Given the description of an element on the screen output the (x, y) to click on. 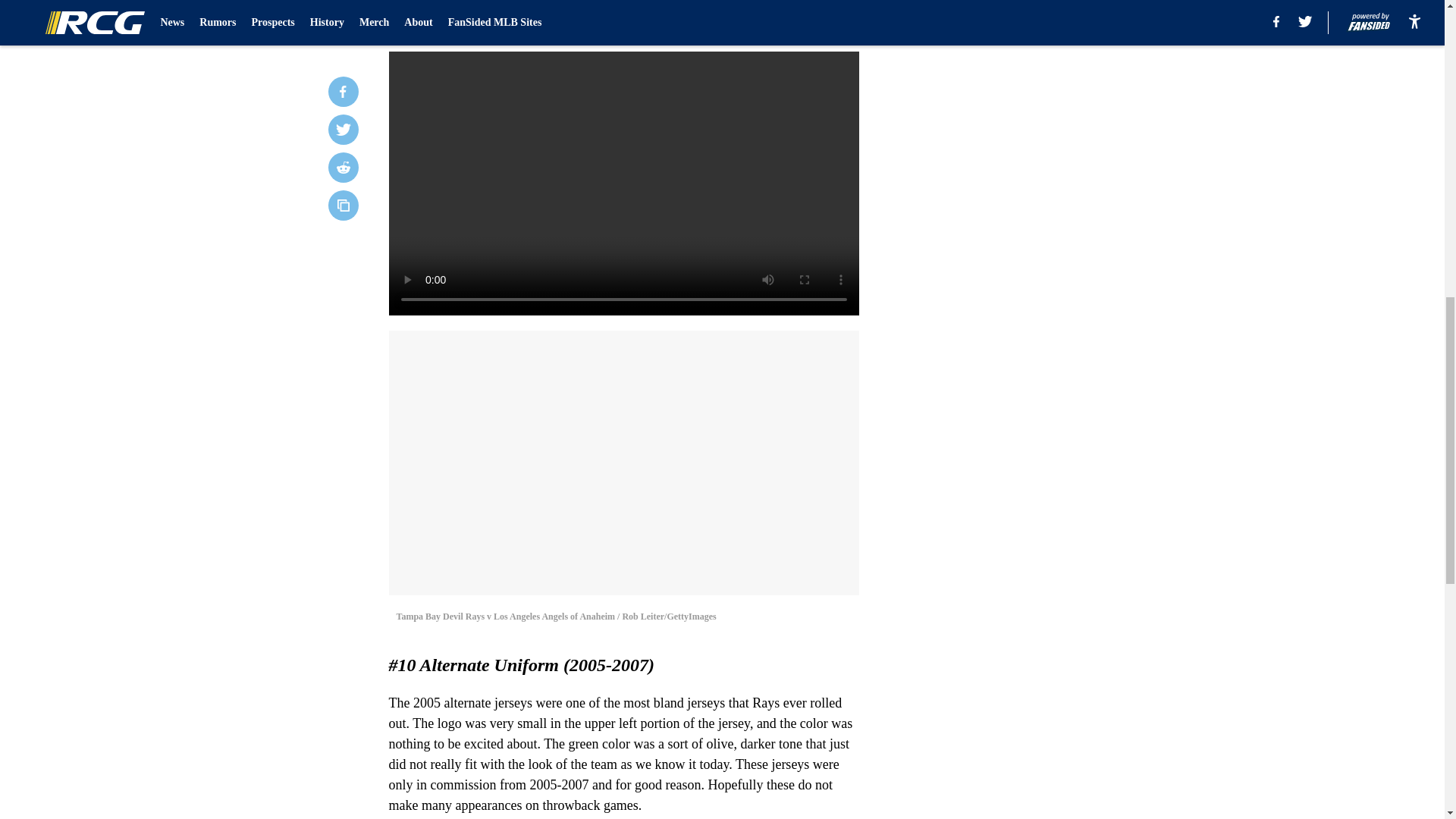
Prev (433, 20)
3rd party ad content (1047, 320)
3rd party ad content (1047, 100)
Next (813, 20)
